Given the description of an element on the screen output the (x, y) to click on. 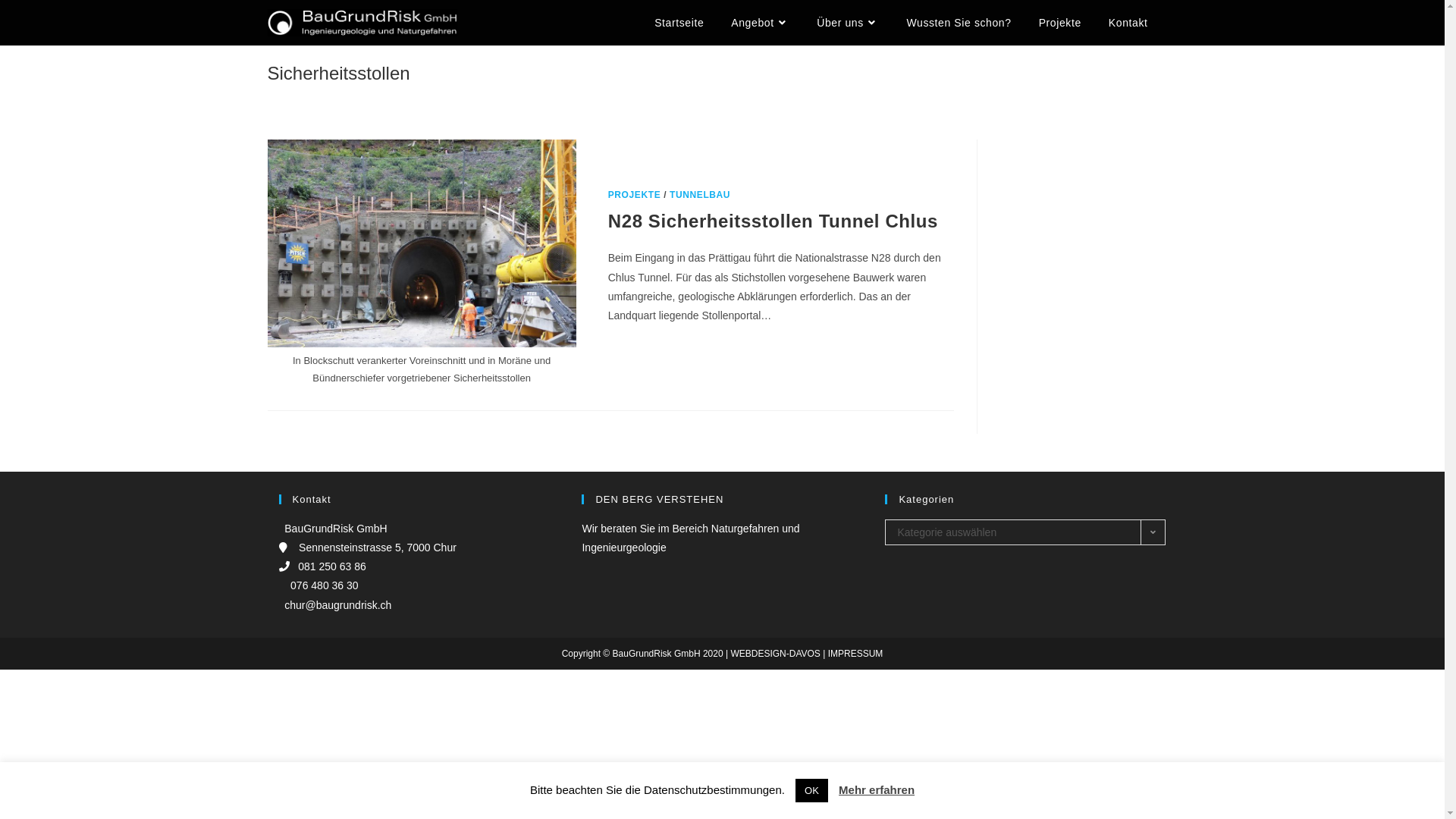
WEBDESIGN-DAVOS Element type: text (774, 653)
IMPRESSUM Element type: text (855, 653)
OK Element type: text (811, 790)
  chur@baugrundrisk.ch Element type: text (335, 605)
Projekte Element type: text (1060, 22)
N28 Sicherheitsstollen Tunnel Chlus Element type: text (773, 220)
TUNNELBAU Element type: text (699, 194)
Mehr erfahren Element type: text (876, 789)
Angebot Element type: text (760, 22)
Wussten Sie schon? Element type: text (958, 22)
PROJEKTE Element type: text (634, 194)
Startseite Element type: text (678, 22)
Kontakt Element type: text (1128, 22)
